Given the description of an element on the screen output the (x, y) to click on. 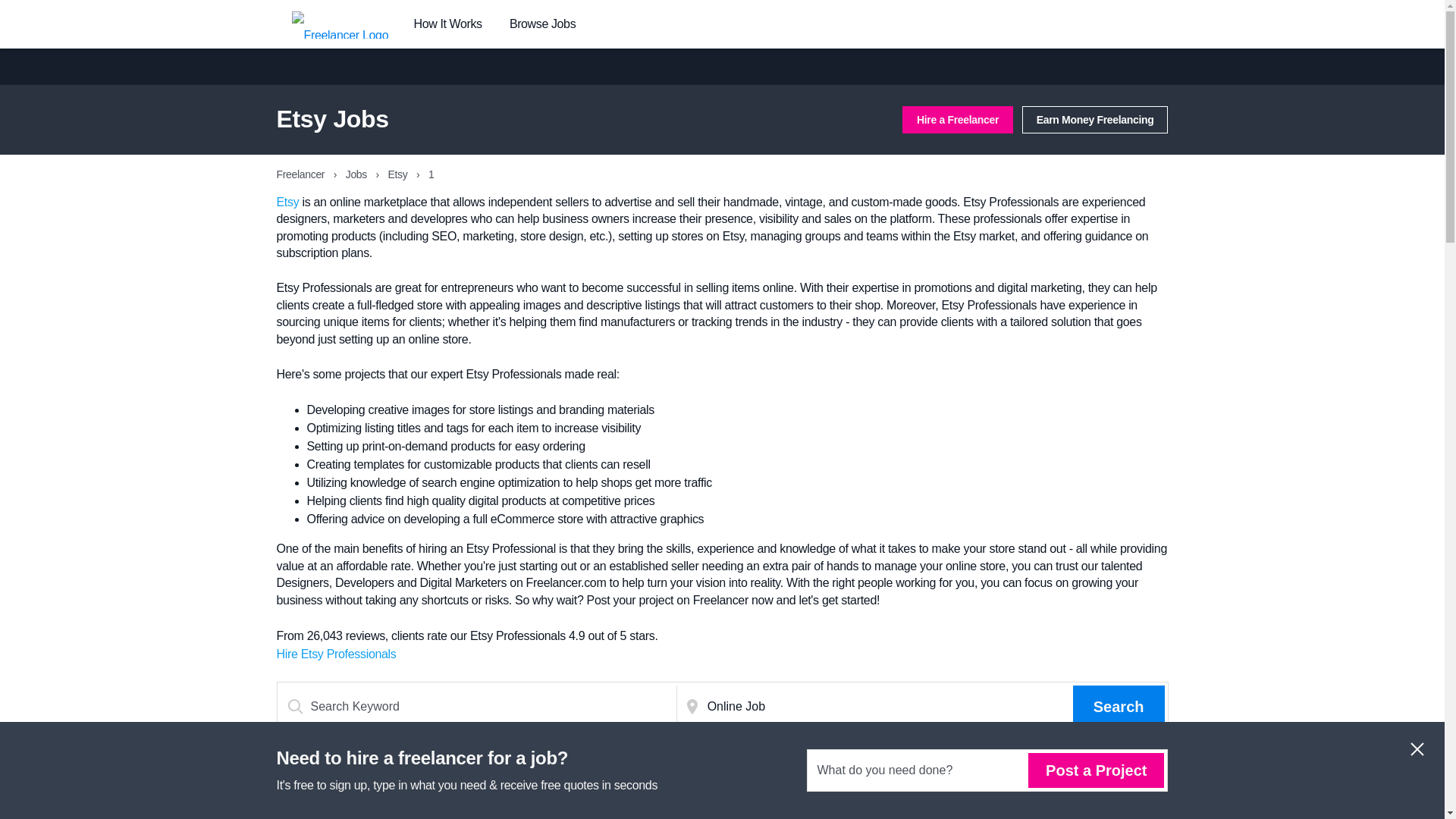
Etsy (399, 174)
Jobs (357, 174)
Earn Money Freelancing (1095, 119)
Online Job (887, 706)
Hire a Freelancer (957, 119)
Freelancer (301, 174)
Etsy (287, 201)
Browse Jobs (542, 24)
Search (1118, 706)
Online Job (887, 706)
